Given the description of an element on the screen output the (x, y) to click on. 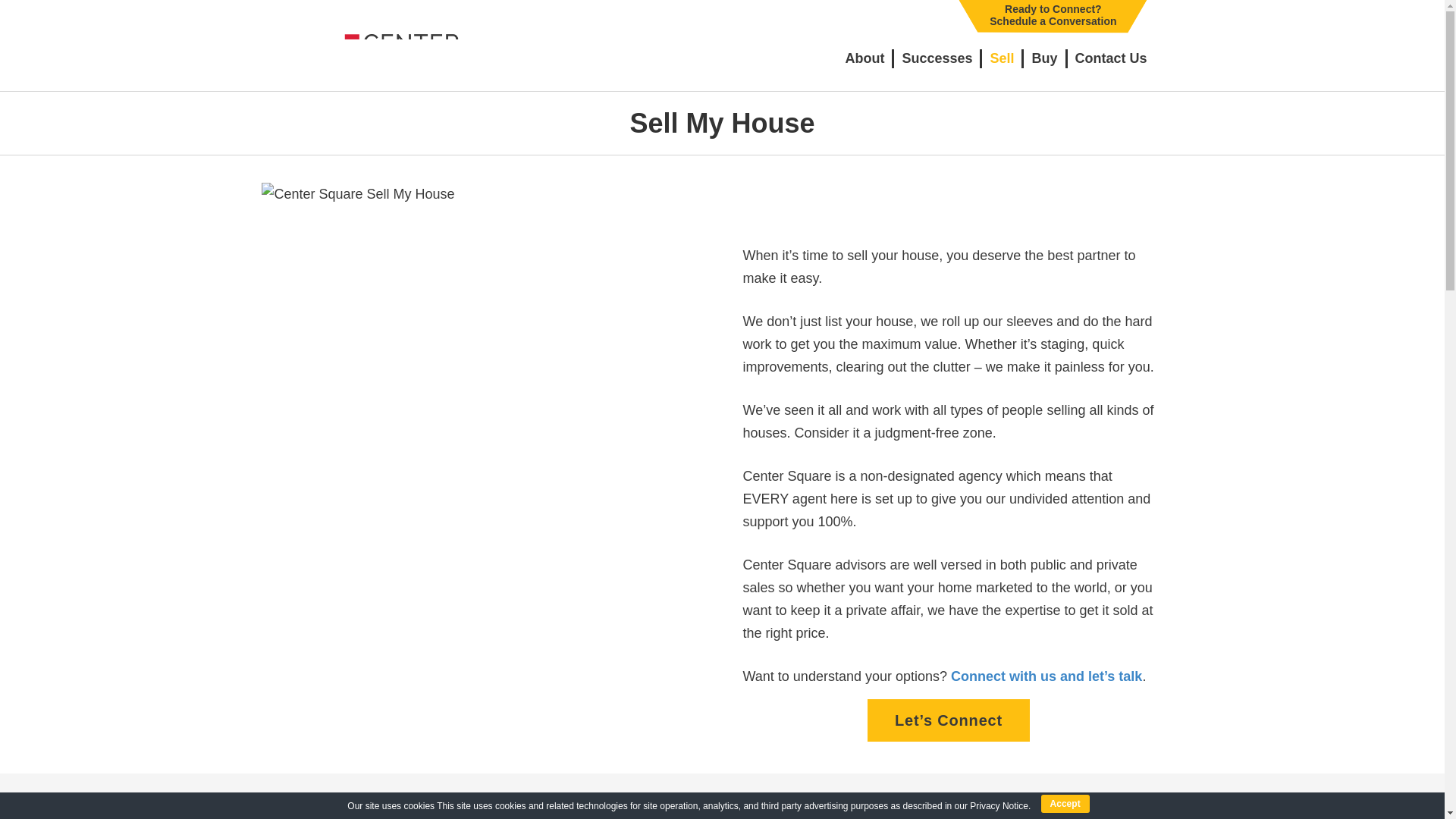
Contact (948, 720)
Sell (1001, 58)
Buy (1043, 58)
Successes (1053, 15)
Contact Us (936, 58)
About (1110, 58)
